Given the description of an element on the screen output the (x, y) to click on. 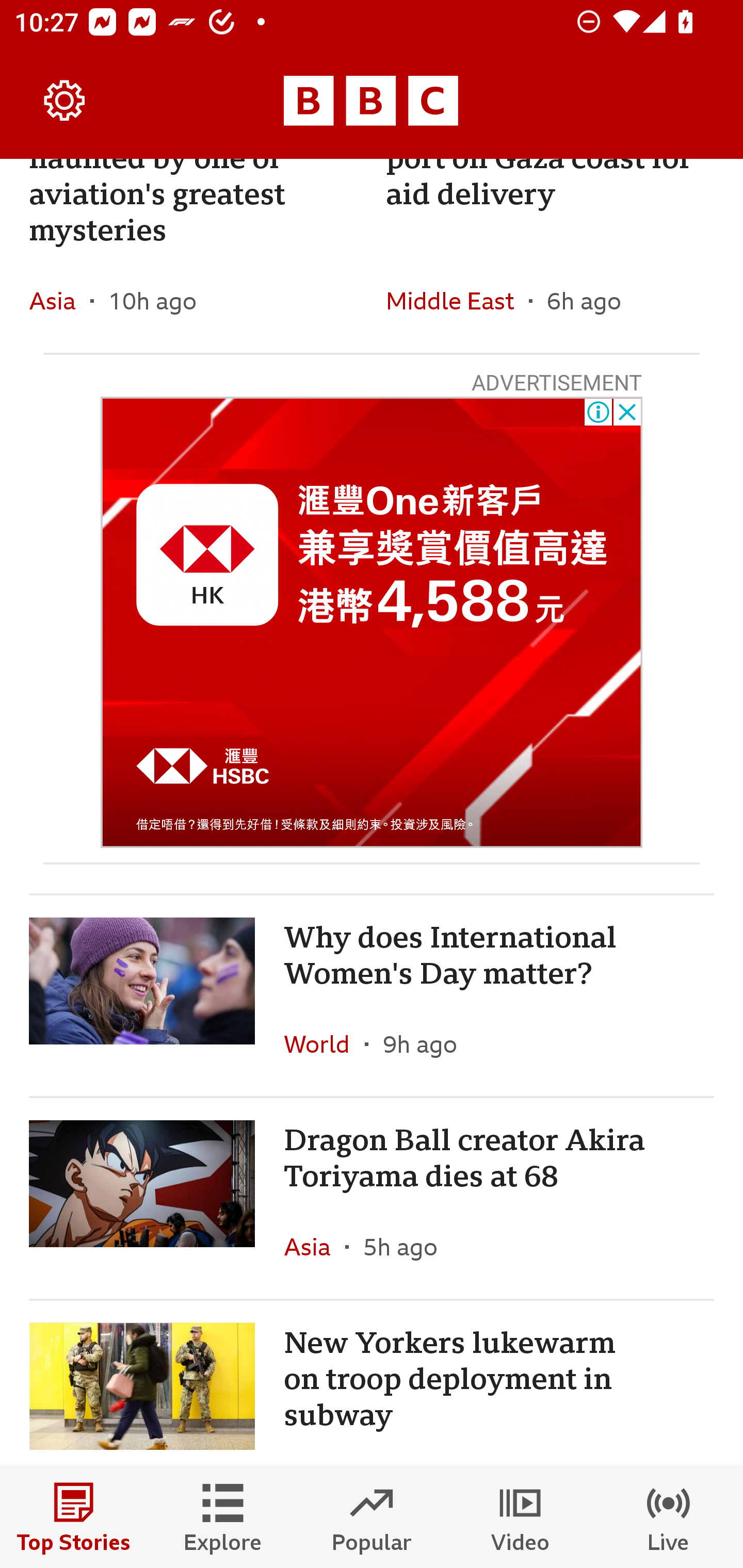
Settings (64, 100)
Asia In the section Asia (59, 300)
Middle East In the section Middle East (457, 300)
HSBC javascript:window.open(window (371, 622)
World In the section World (323, 1044)
Asia In the section Asia (314, 1246)
Explore (222, 1517)
Popular (371, 1517)
Video (519, 1517)
Live (668, 1517)
